Given the description of an element on the screen output the (x, y) to click on. 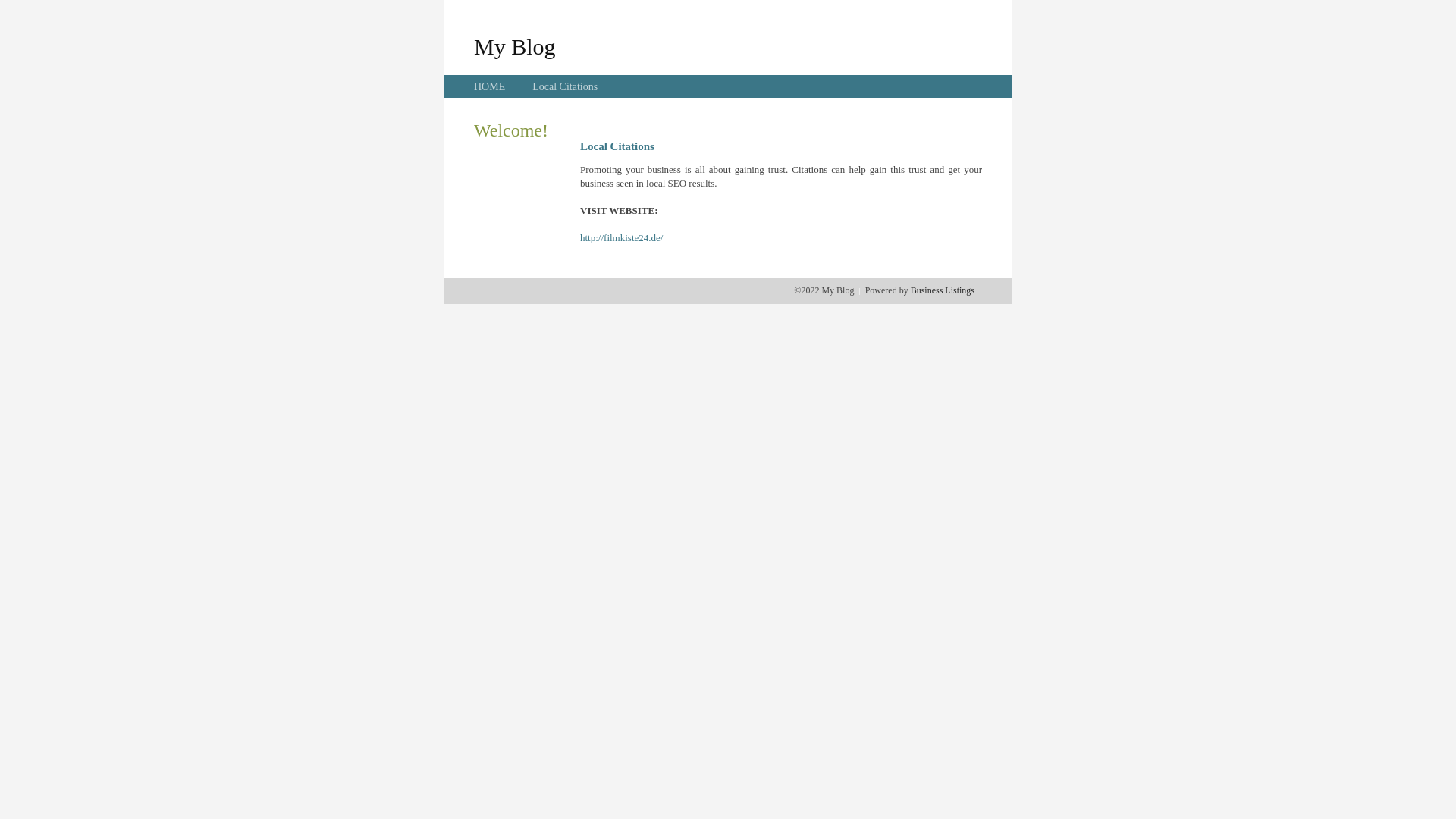
My Blog Element type: text (514, 46)
http://filmkiste24.de/ Element type: text (621, 237)
Local Citations Element type: text (564, 86)
HOME Element type: text (489, 86)
Business Listings Element type: text (942, 290)
